Given the description of an element on the screen output the (x, y) to click on. 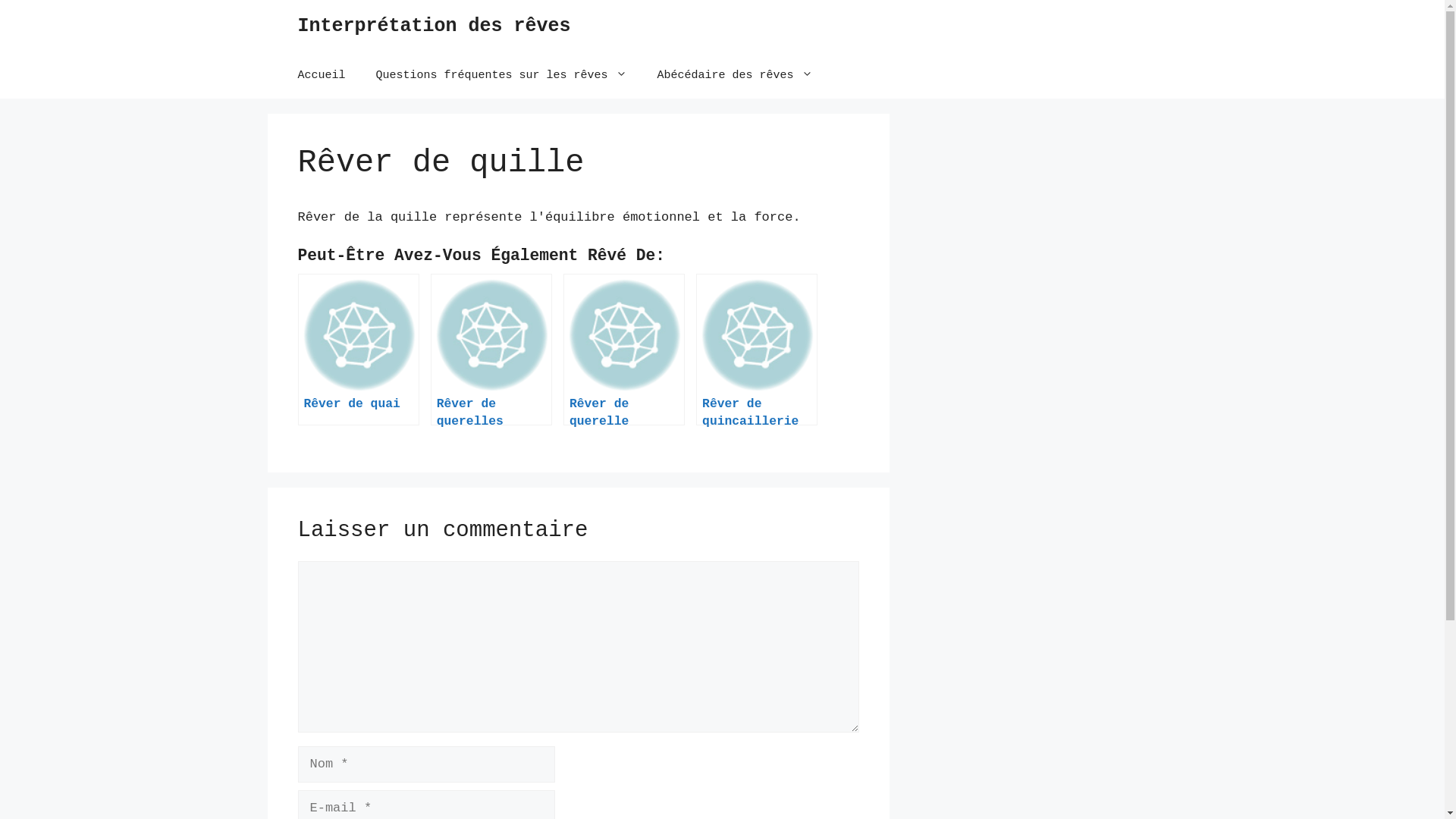
Accueil Element type: text (321, 75)
